Given the description of an element on the screen output the (x, y) to click on. 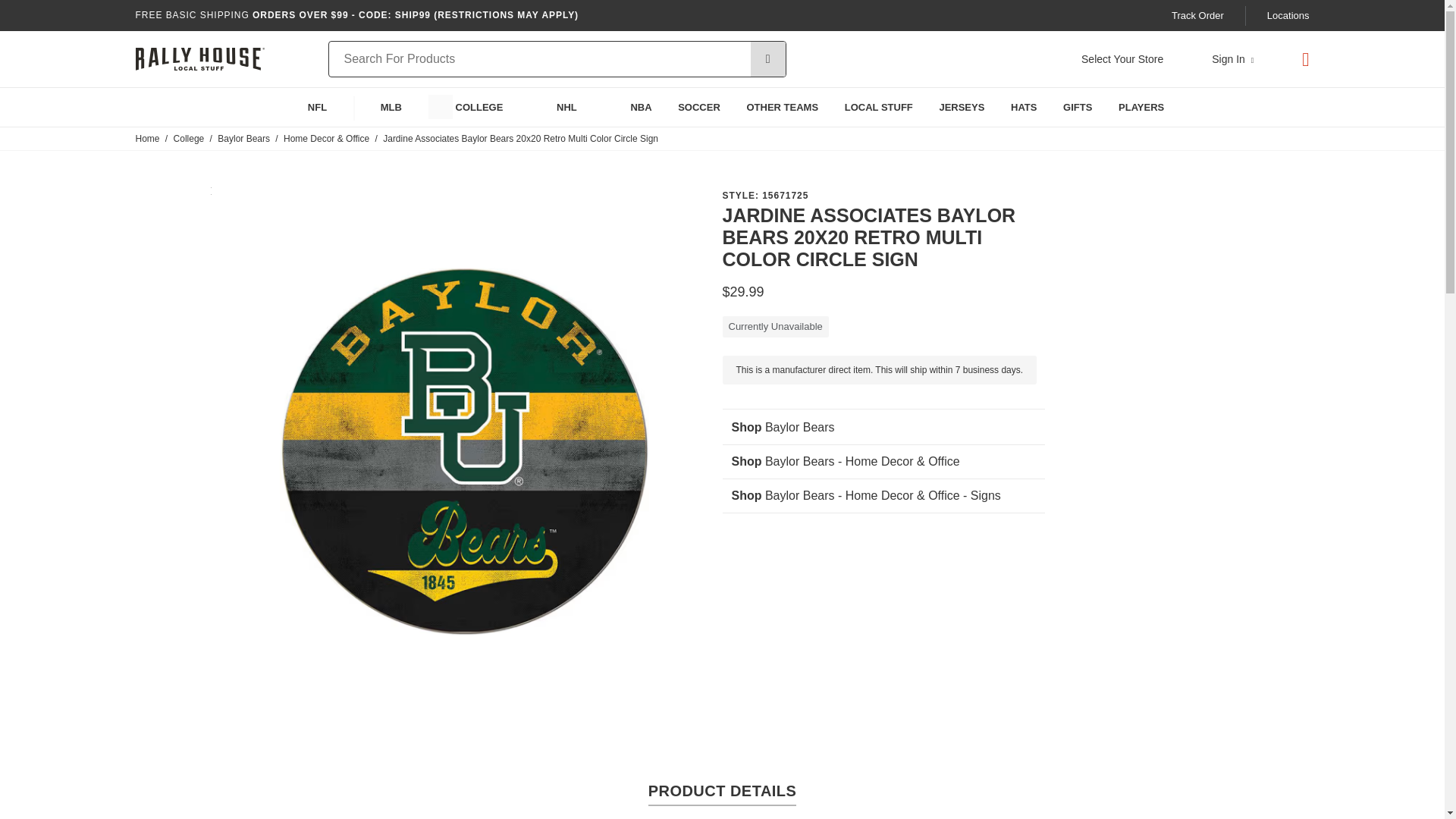
Rally House (199, 59)
Sign In (1232, 59)
Locations (1287, 15)
NFL (302, 106)
Select Your Store (1122, 59)
Search (768, 58)
Track Order (1198, 15)
